Given the description of an element on the screen output the (x, y) to click on. 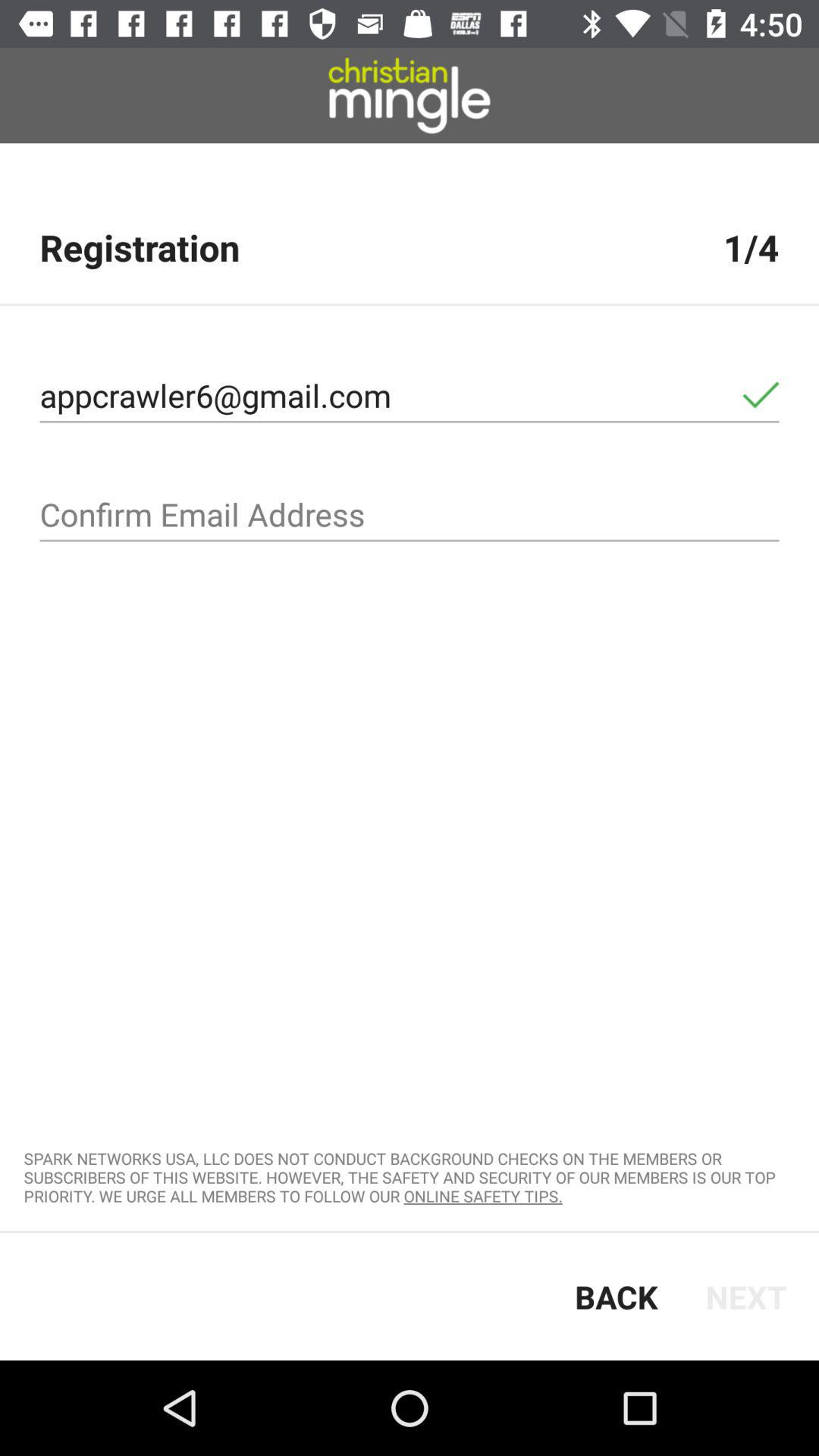
type email (409, 514)
